Given the description of an element on the screen output the (x, y) to click on. 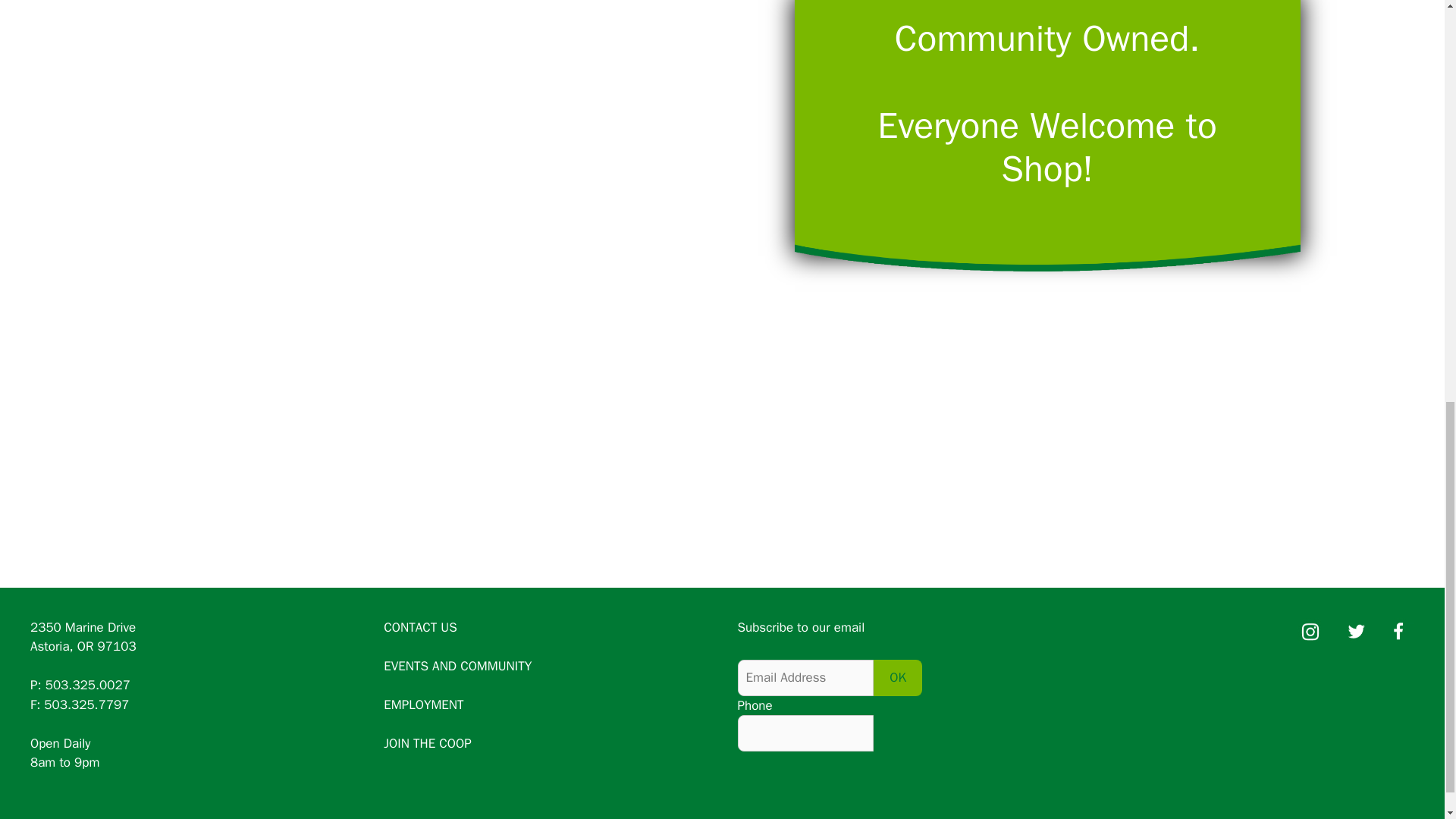
Scroll back to top (1406, 720)
OK (897, 678)
